Given the description of an element on the screen output the (x, y) to click on. 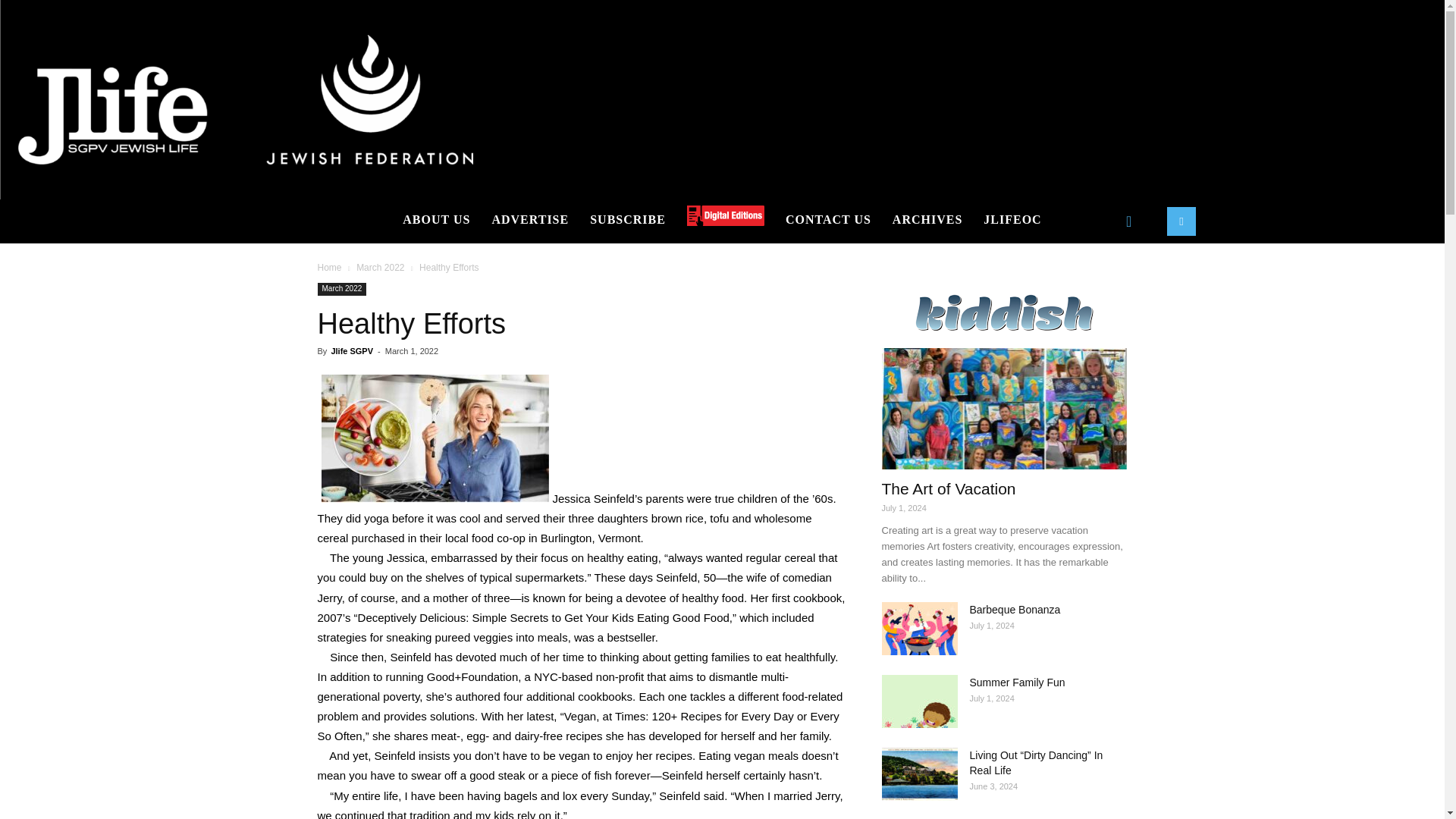
View all posts in March 2022 (380, 267)
ADVERTISE (529, 219)
The Art of Vacation (1003, 408)
Jlife SGPV Logo (245, 99)
JLIFEOC (1011, 219)
March 2022 (341, 288)
March 2022 (380, 267)
Jlife SGPV (351, 350)
SUBSCRIBE (628, 219)
ABOUT US (435, 219)
ARCHIVES (927, 219)
Home (328, 267)
CONTACT US (828, 219)
